Given the description of an element on the screen output the (x, y) to click on. 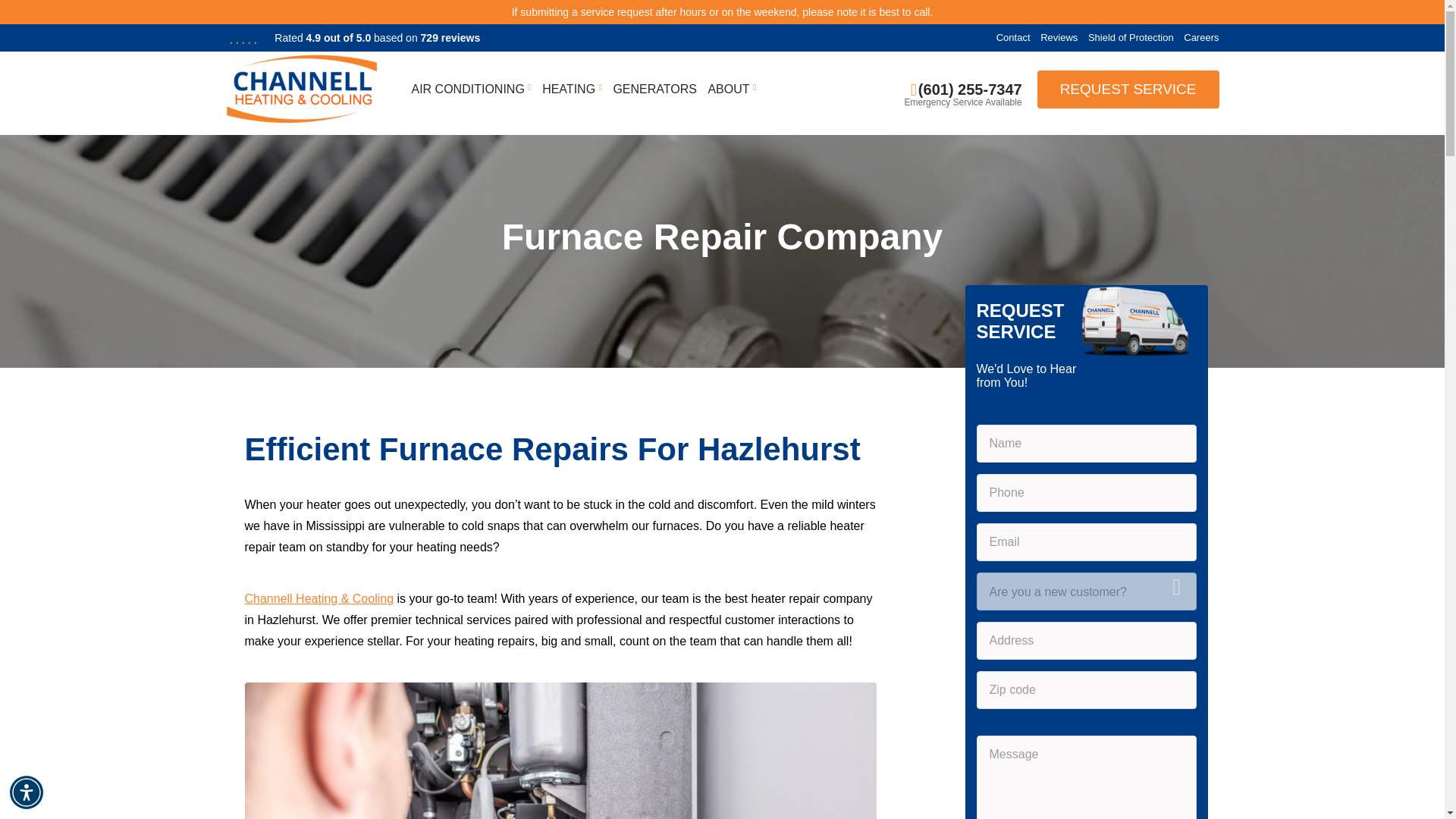
Contact (1012, 37)
GENERATORS (654, 89)
Careers (1200, 37)
HEATING (568, 89)
Reviews (1059, 37)
ABOUT (728, 89)
AIR CONDITIONING (467, 89)
Accessibility Menu (26, 792)
REQUEST SERVICE (1128, 89)
Shield of Protection (1130, 37)
